Given the description of an element on the screen output the (x, y) to click on. 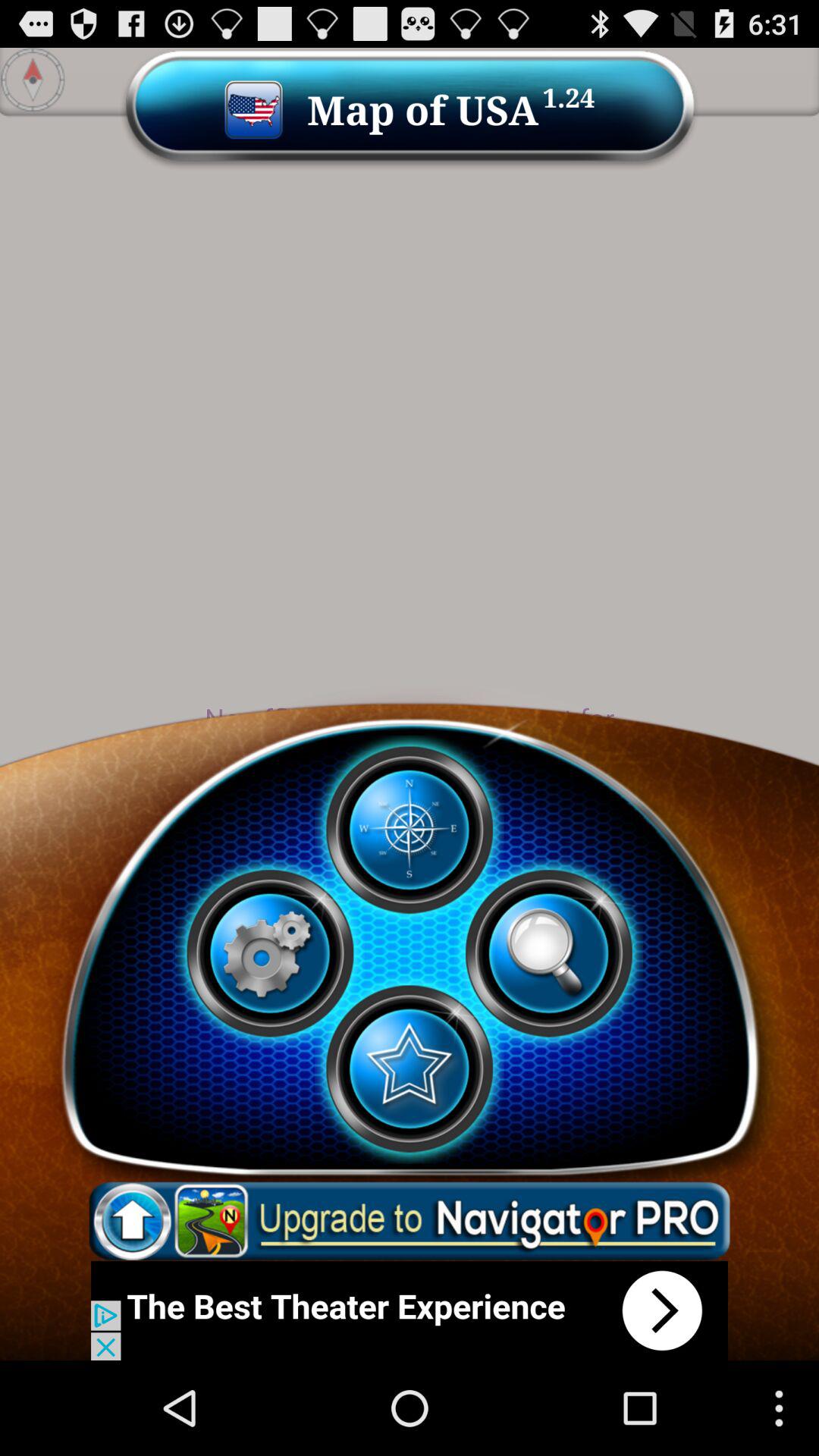
go to favorites (408, 1068)
